Given the description of an element on the screen output the (x, y) to click on. 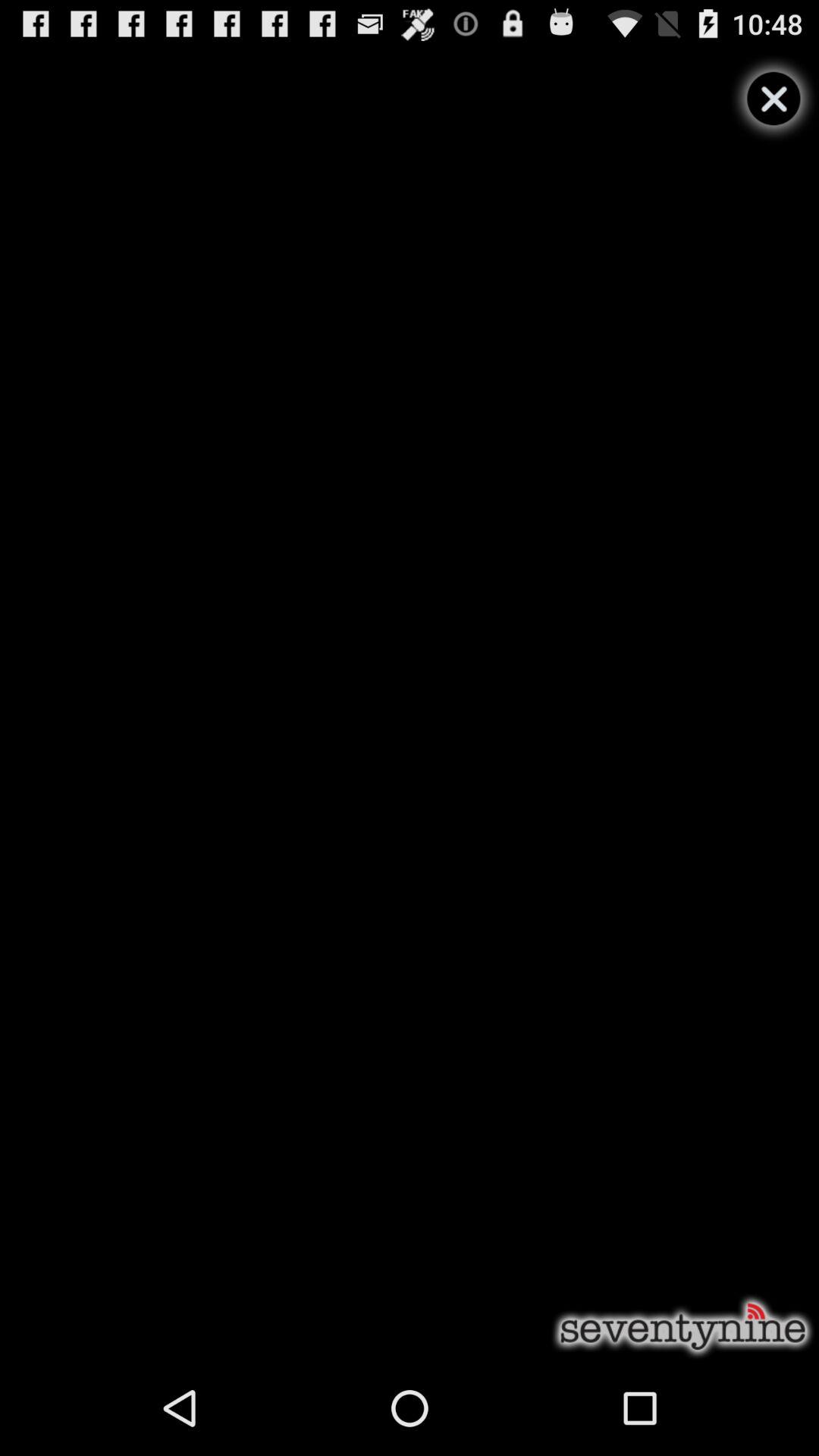
close this (773, 98)
